Given the description of an element on the screen output the (x, y) to click on. 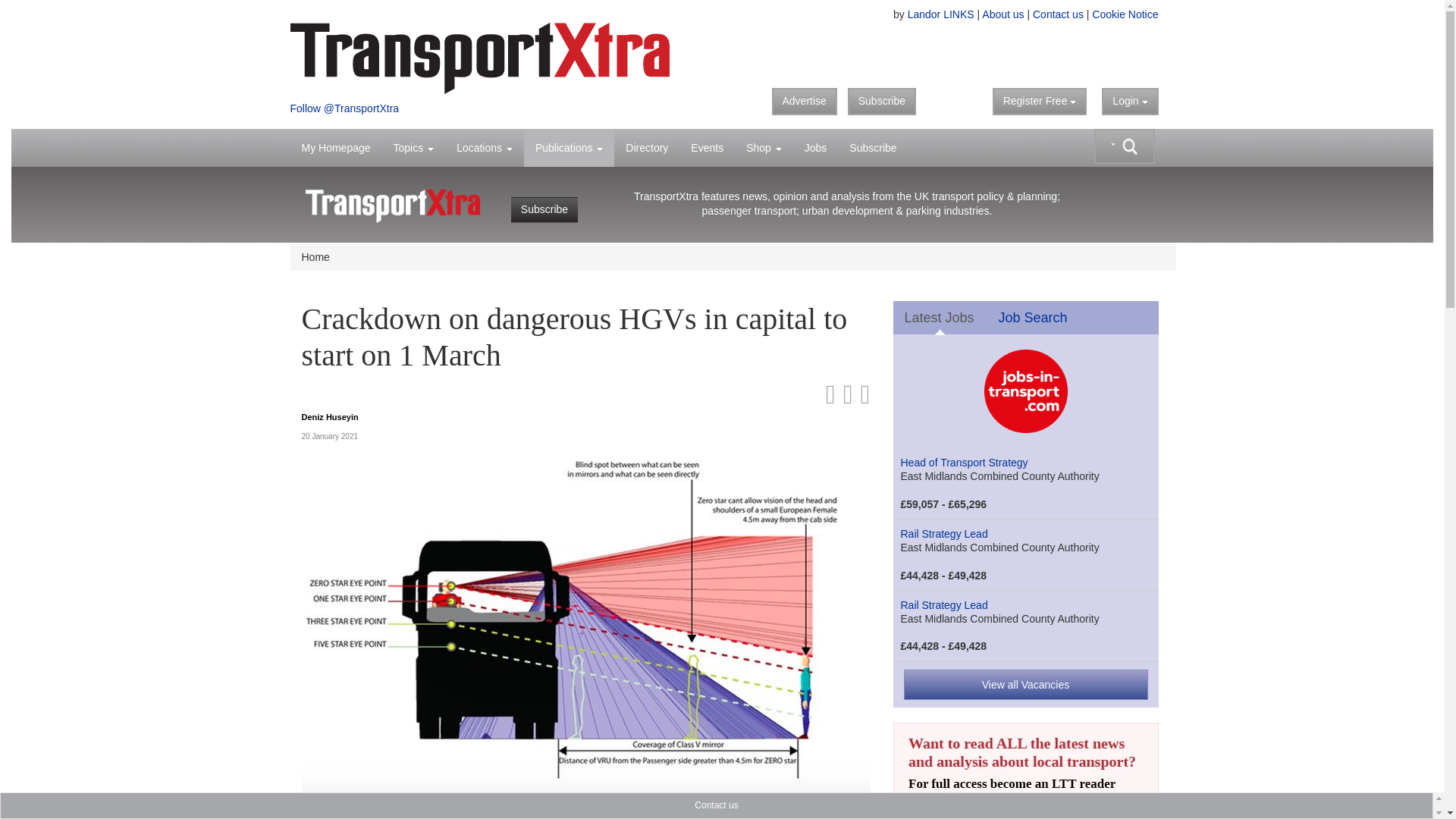
Landor LINKS (940, 14)
About us (1002, 14)
Login (1129, 101)
My Homepage (335, 147)
Cookie Notice (1124, 14)
Subscribe (881, 101)
TransportXtra (499, 57)
Topics (413, 147)
Contact us (1057, 14)
Locations (484, 147)
Register Free (1039, 101)
Subscribe to LTT (1025, 814)
Advertise (804, 101)
